Given the description of an element on the screen output the (x, y) to click on. 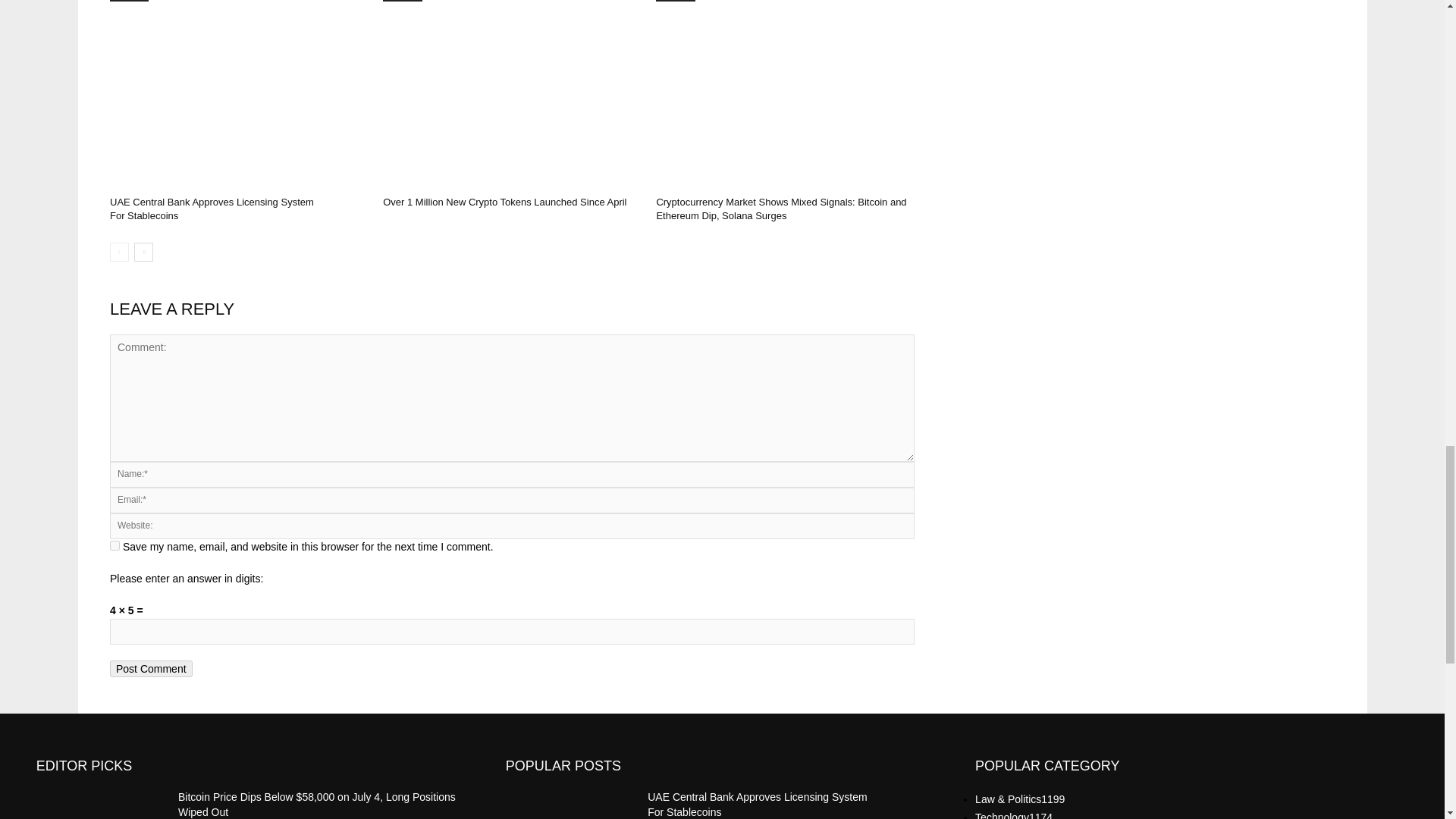
Post Comment (151, 668)
yes (114, 545)
